Given the description of an element on the screen output the (x, y) to click on. 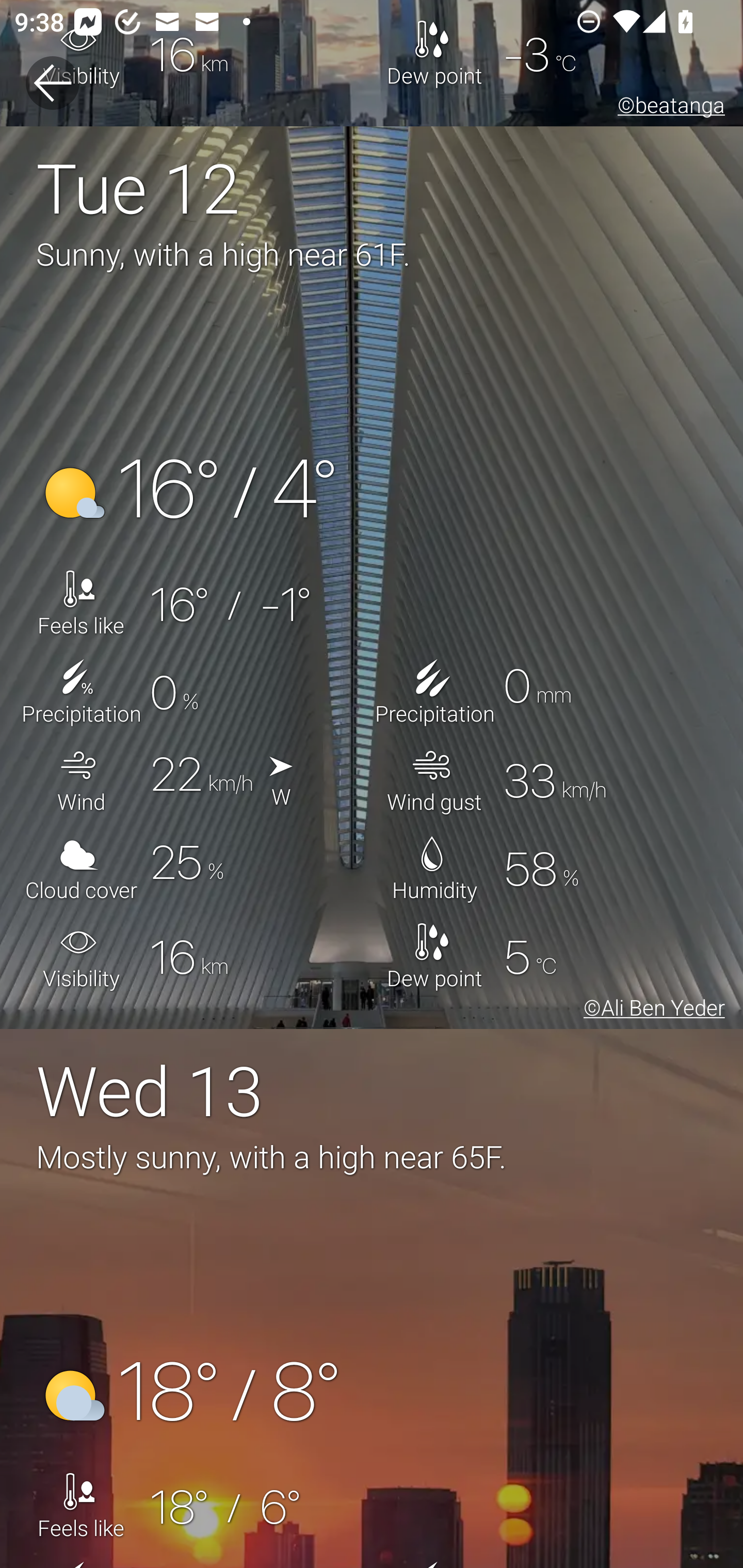
©beatanga (667, 108)
©Ali Ben Yeder (650, 1010)
